Given the description of an element on the screen output the (x, y) to click on. 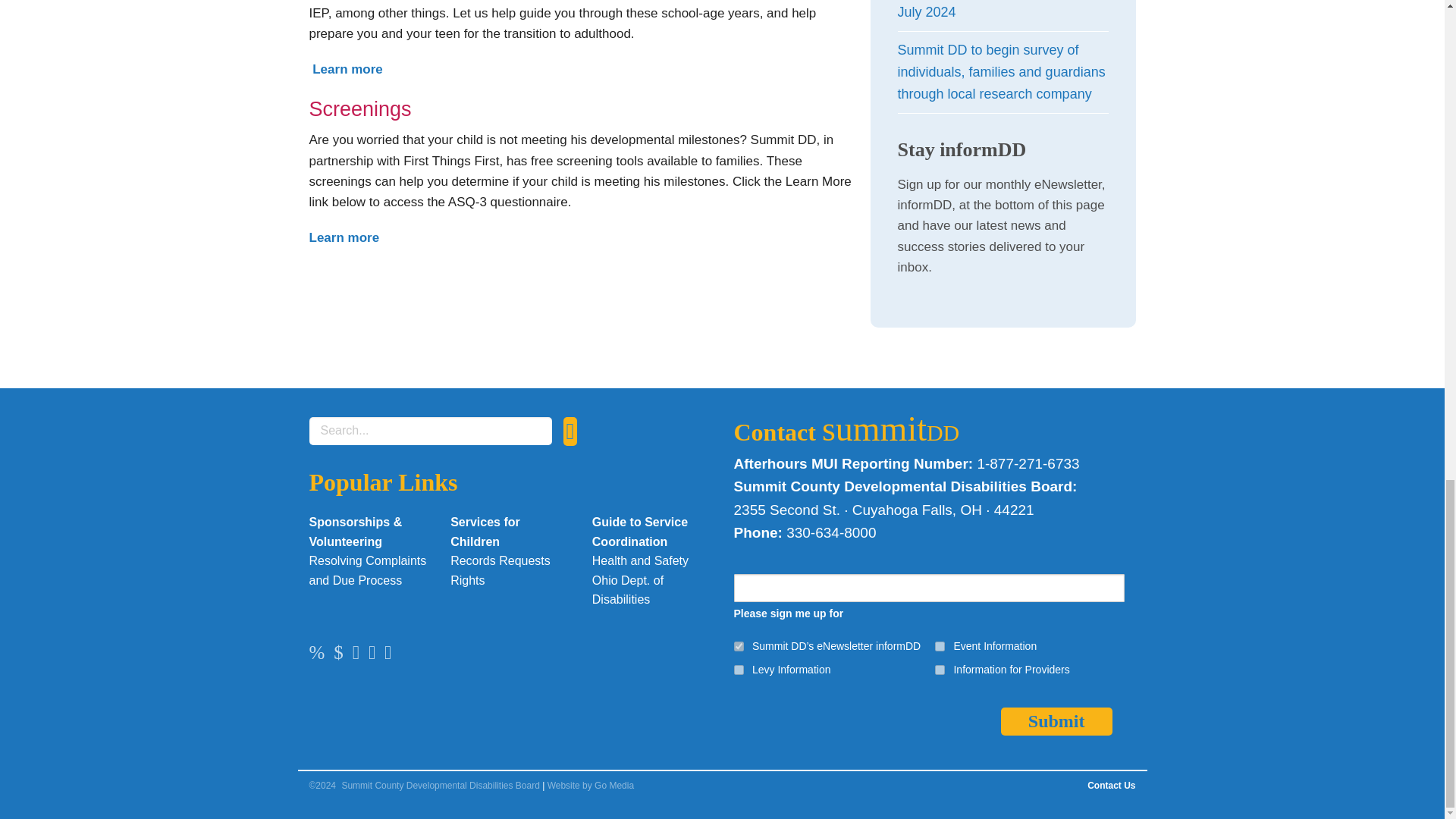
Information for Providers (939, 669)
School-age support (345, 69)
Developmental Screenings (344, 237)
Levy Information (738, 669)
Search... (429, 430)
Search... (429, 430)
Submit (1056, 721)
Event Information (939, 646)
